Given the description of an element on the screen output the (x, y) to click on. 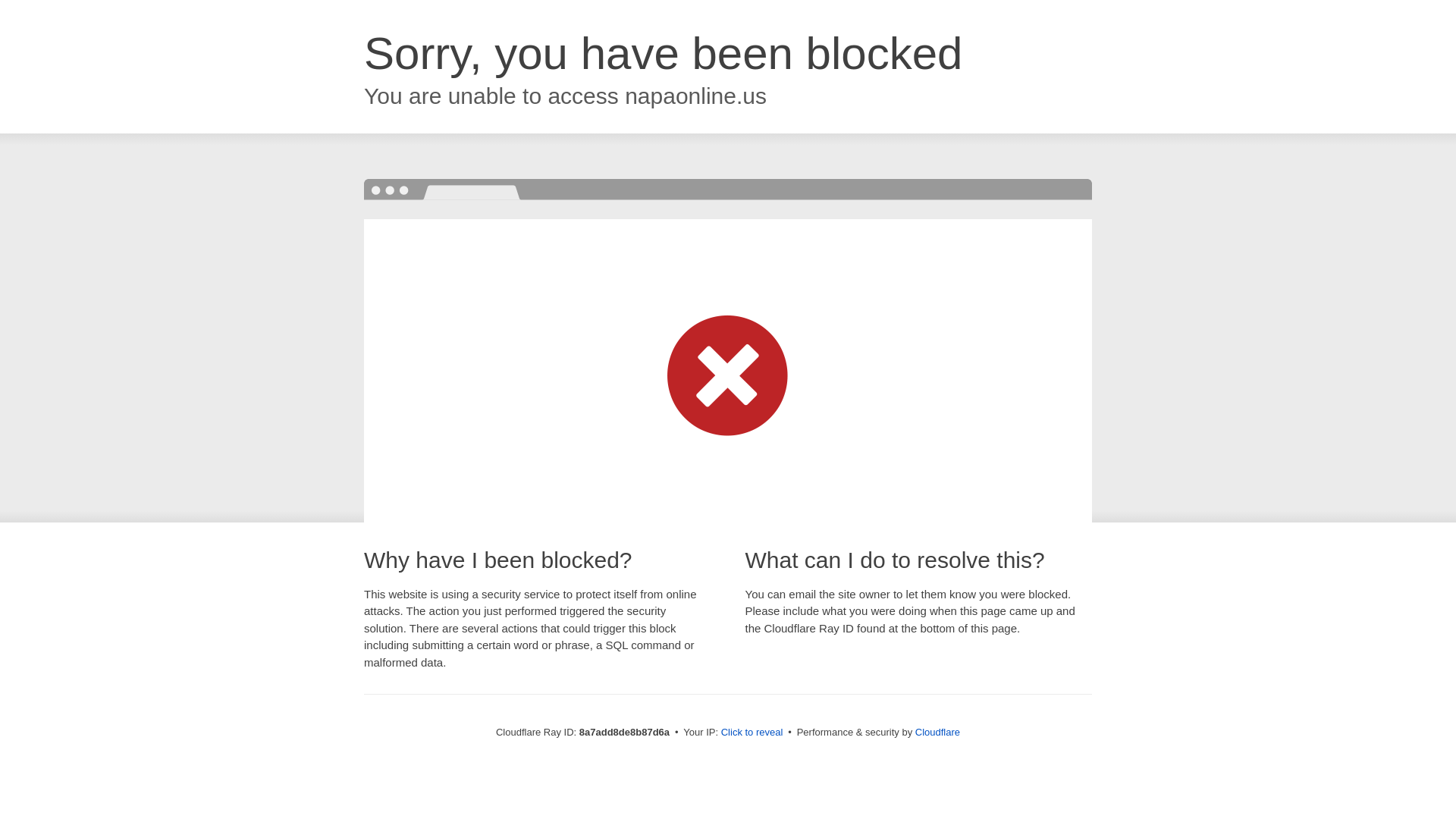
Cloudflare (937, 731)
Click to reveal (751, 732)
